Given the description of an element on the screen output the (x, y) to click on. 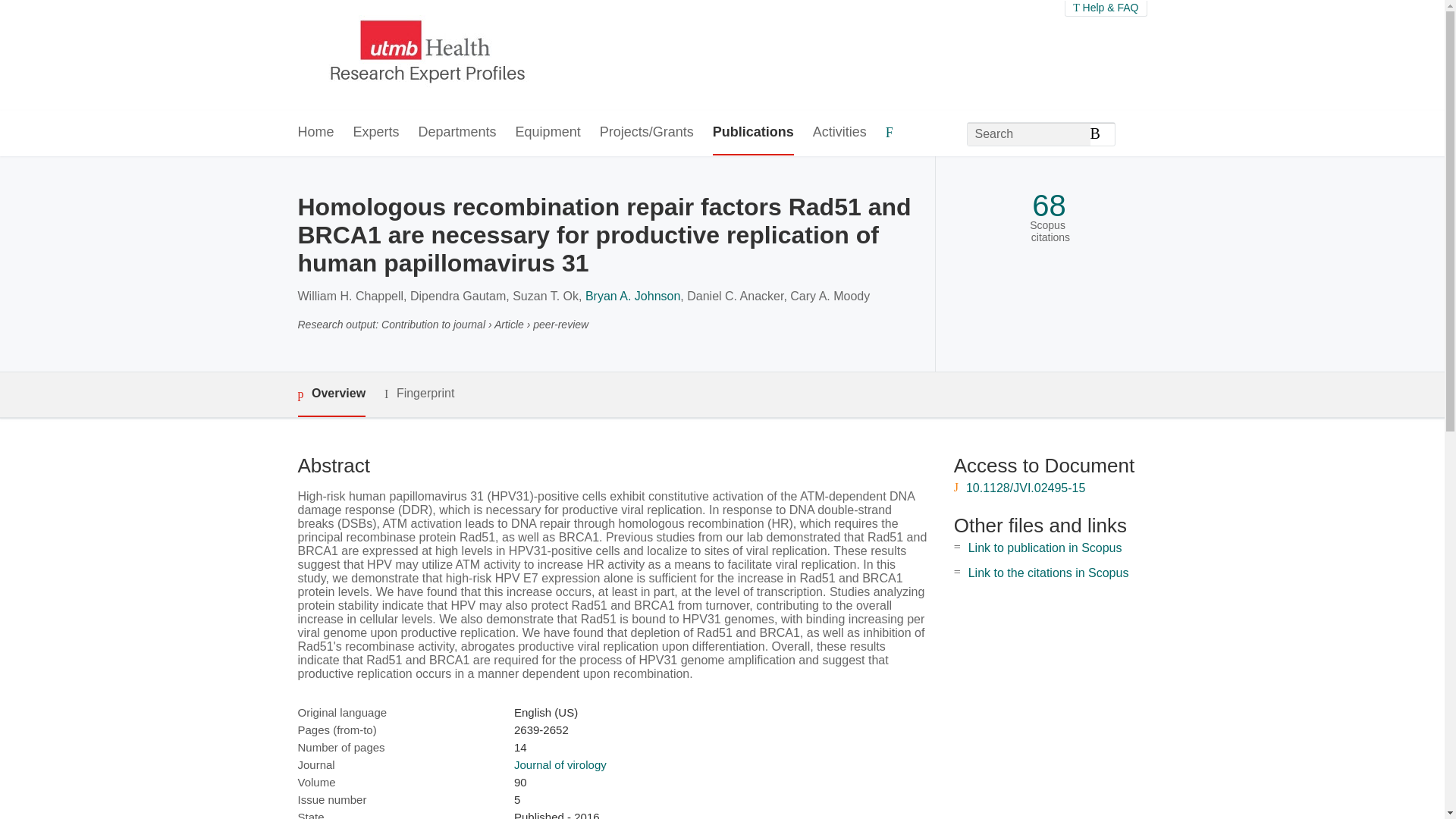
68 (1048, 205)
Overview (331, 394)
Experts (375, 132)
Link to publication in Scopus (1045, 547)
Fingerprint (419, 393)
Journal of virology (560, 764)
Link to the citations in Scopus (1048, 572)
Activities (839, 132)
Bryan A. Johnson (632, 295)
Publications (753, 132)
